Given the description of an element on the screen output the (x, y) to click on. 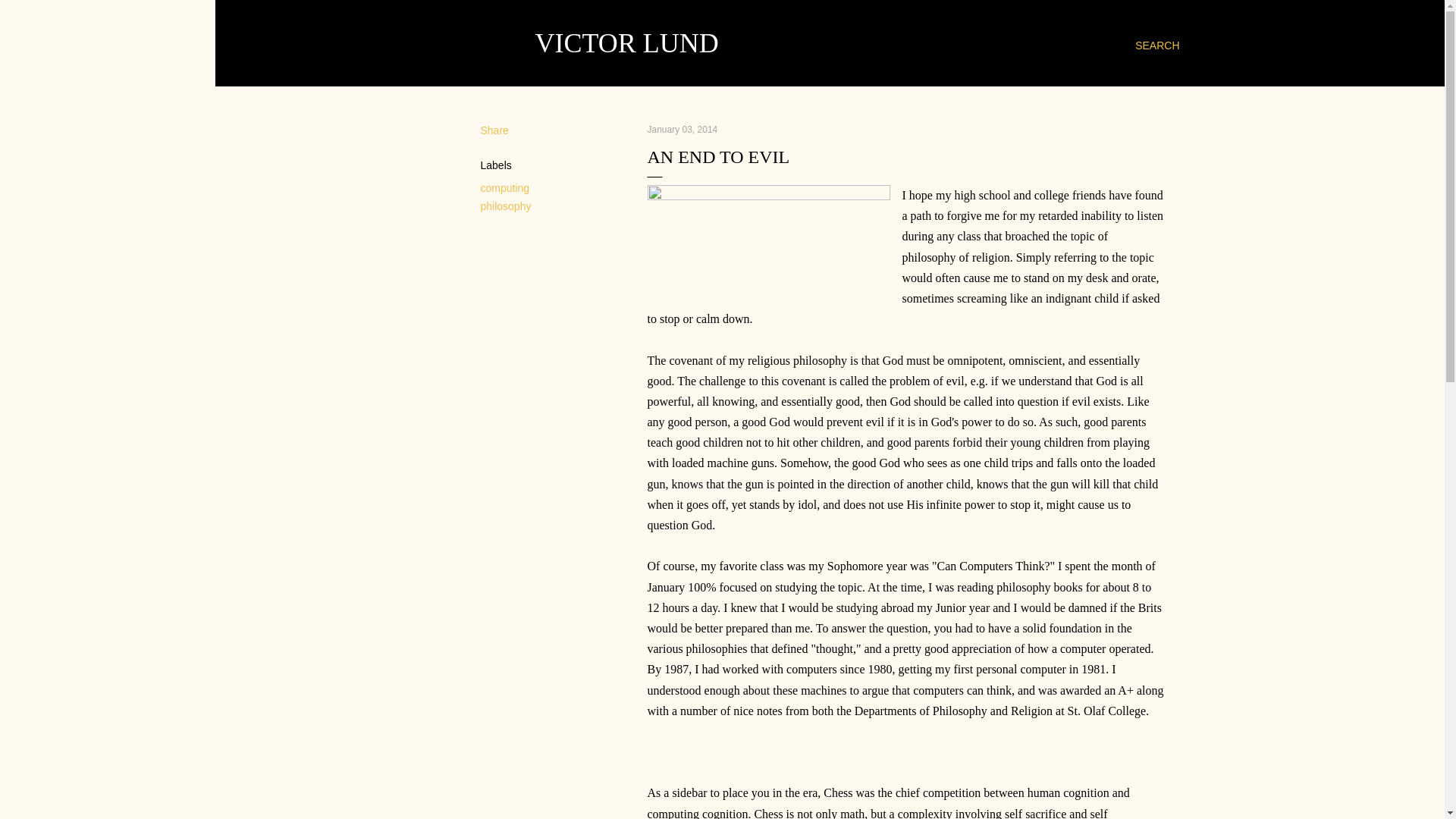
Share (494, 130)
philosophy (505, 205)
computing (504, 187)
January 03, 2014 (682, 129)
VICTOR LUND (627, 42)
permanent link (682, 129)
SEARCH (1157, 45)
